Given the description of an element on the screen output the (x, y) to click on. 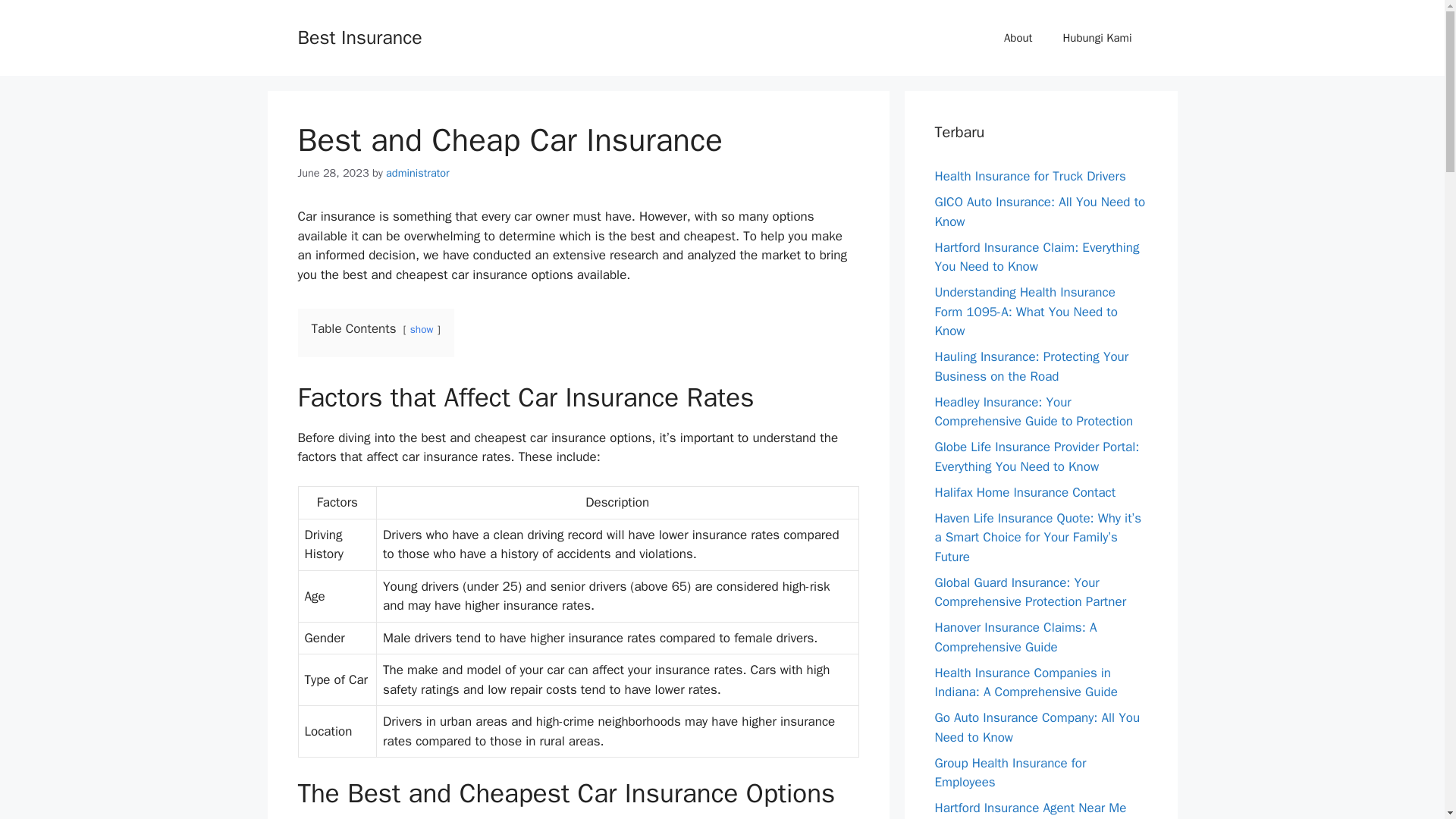
About (1017, 37)
View all posts by administrator (417, 172)
administrator (417, 172)
Best Insurance (359, 37)
show (421, 328)
Hubungi Kami (1096, 37)
